Given the description of an element on the screen output the (x, y) to click on. 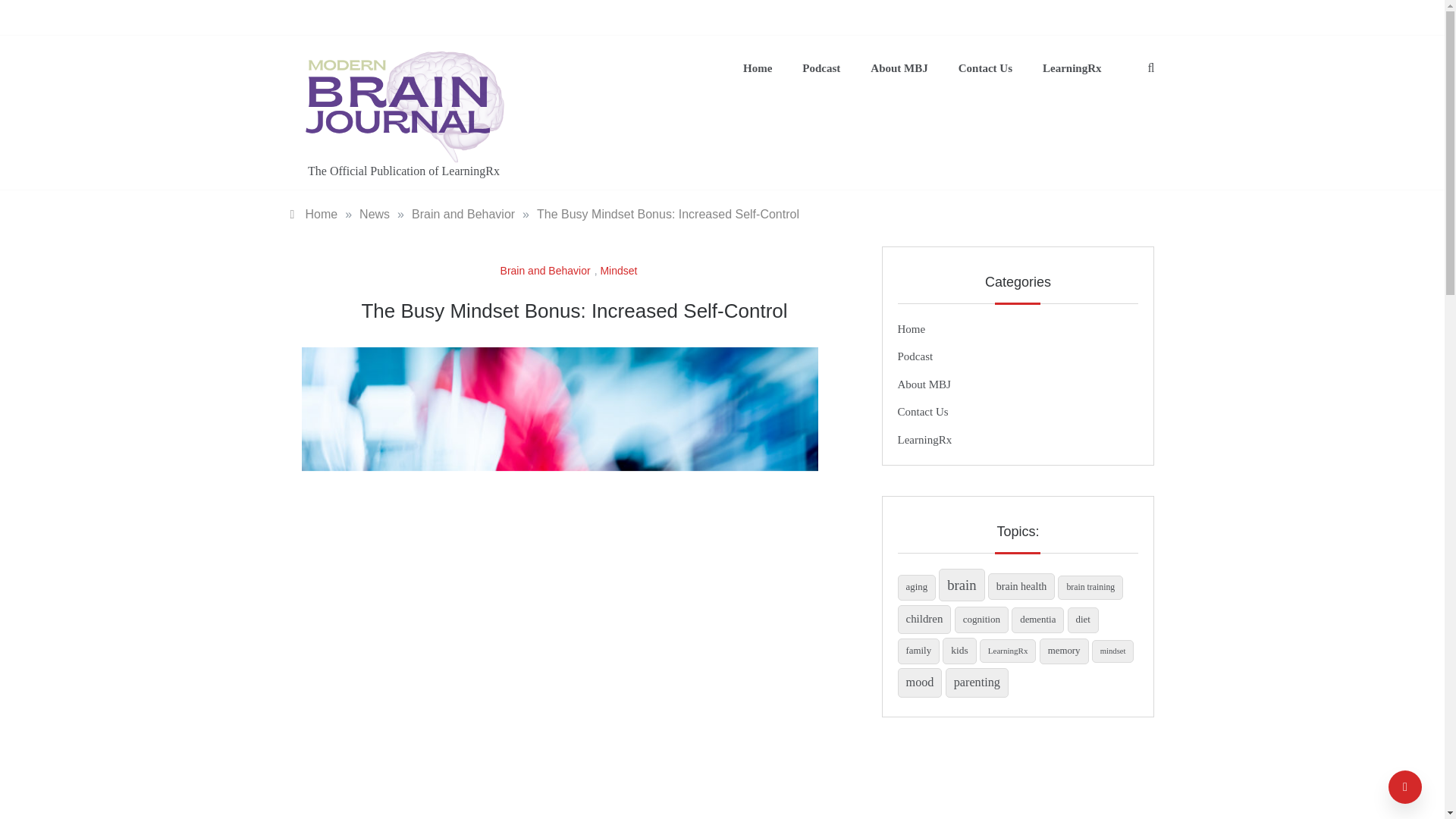
Podcast (915, 356)
aging (917, 587)
Contact Us (985, 68)
Brain and Behavior (463, 214)
LearningRx (1064, 68)
Podcast (821, 68)
About MBJ (924, 384)
Home (313, 214)
Home (912, 328)
Home (757, 68)
News (374, 214)
About MBJ (899, 68)
Go to Top (1405, 786)
Brain and Behavior (547, 270)
Contact Us (923, 411)
